Given the description of an element on the screen output the (x, y) to click on. 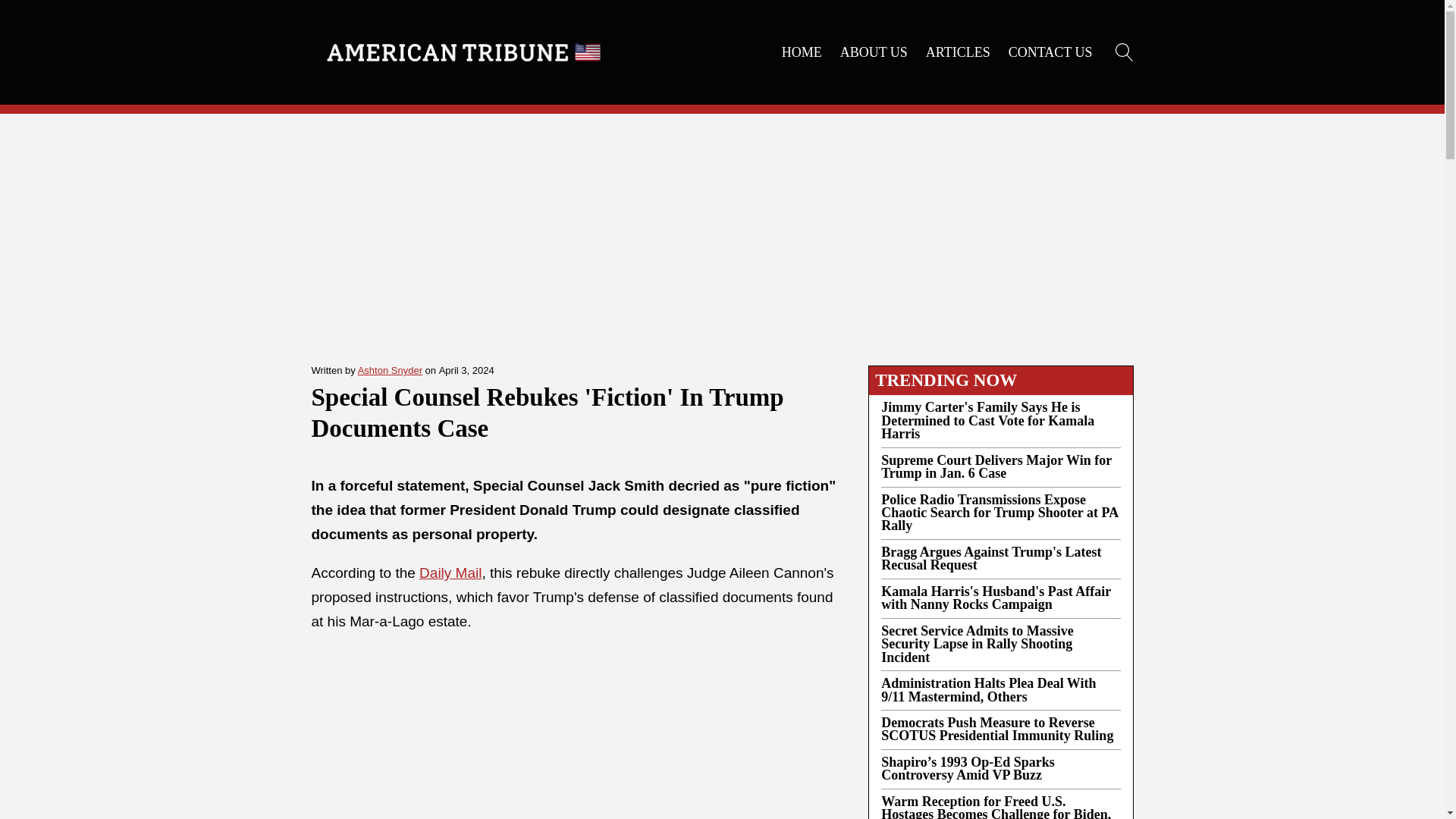
CONTACT US (1050, 52)
HOME (802, 52)
ABOUT US (874, 52)
ARTICLES (957, 52)
Daily Mail (450, 572)
Ashton Snyder (390, 369)
Bragg Argues Against Trump's Latest Recusal Request (999, 559)
Supreme Court Delivers Major Win for Trump in Jan. 6 Case (999, 467)
